Given the description of an element on the screen output the (x, y) to click on. 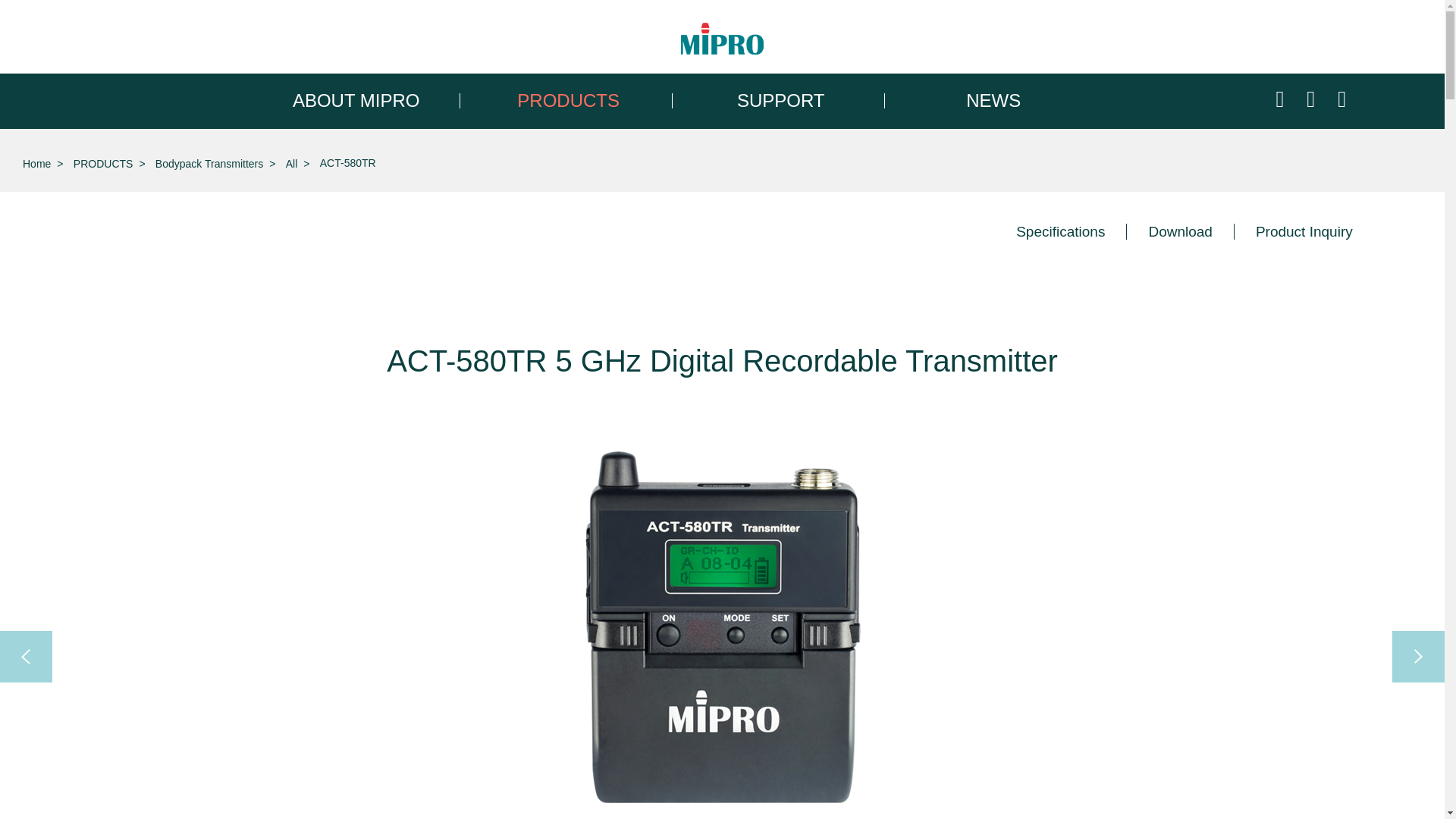
PRODUCTS (568, 100)
NEWS (993, 100)
ABOUT MIPRO (356, 100)
SUPPORT (780, 100)
